Given the description of an element on the screen output the (x, y) to click on. 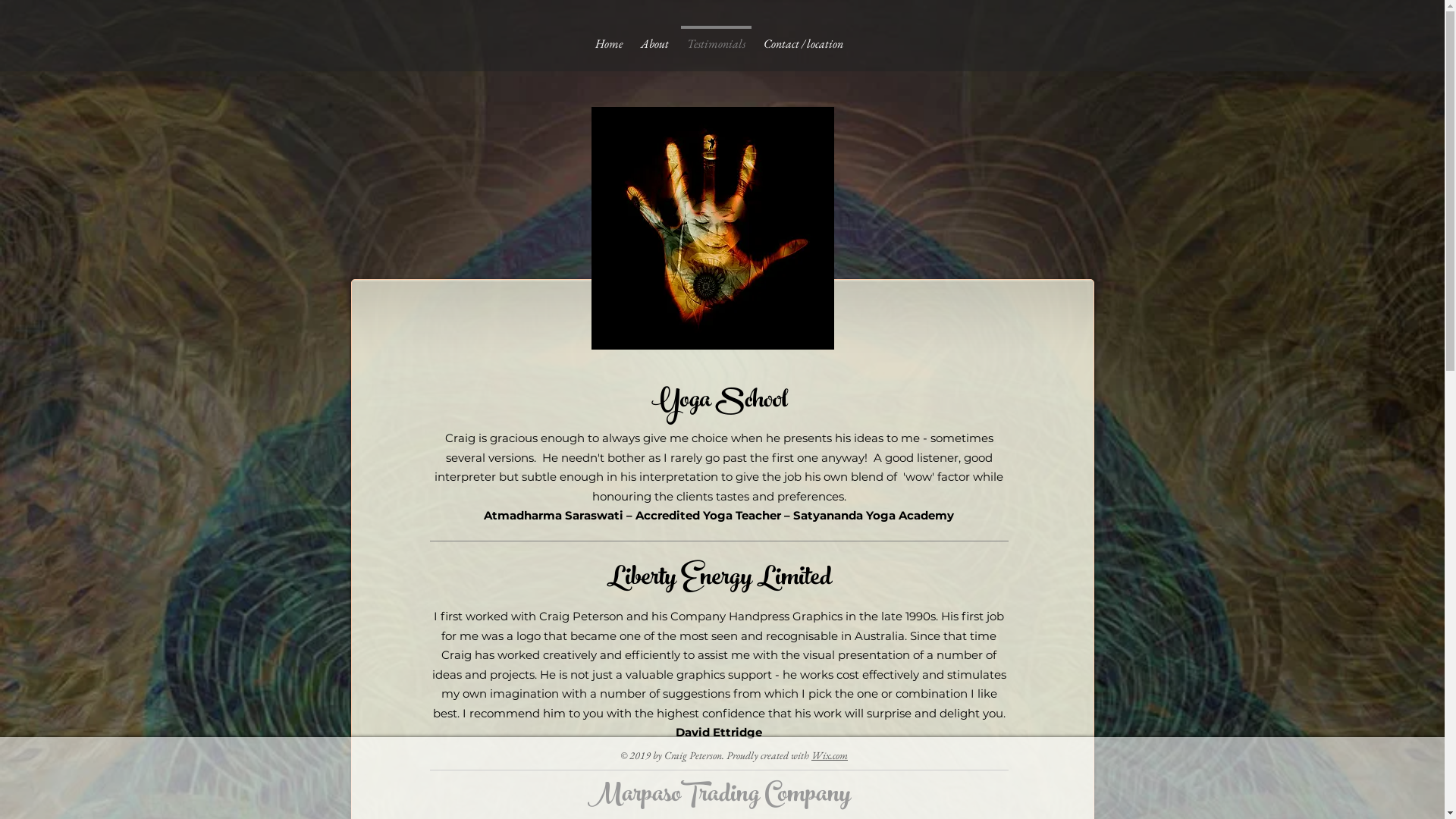
Testimonials Element type: text (715, 36)
Wix.com Element type: text (829, 755)
About Element type: text (653, 36)
Contact / location Element type: text (802, 36)
Home Element type: text (607, 36)
